Given the description of an element on the screen output the (x, y) to click on. 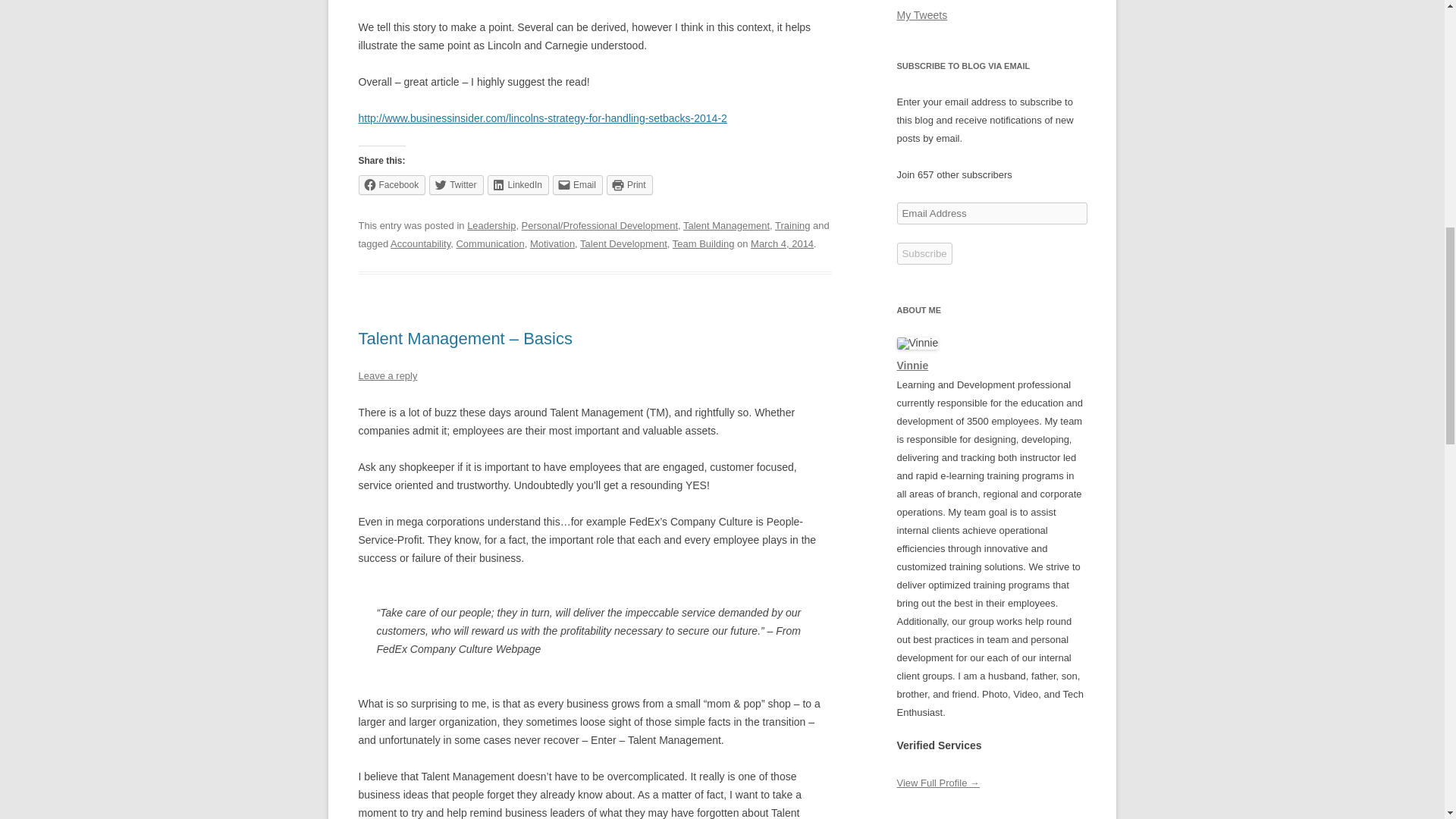
Click to print (629, 184)
Leave a reply (387, 375)
Click to share on Twitter (456, 184)
3:00 pm (782, 243)
Facebook (391, 184)
Accountability (419, 243)
Click to share on LinkedIn (517, 184)
Click to share on Facebook (391, 184)
March 4, 2014 (782, 243)
Twitter (456, 184)
